Given the description of an element on the screen output the (x, y) to click on. 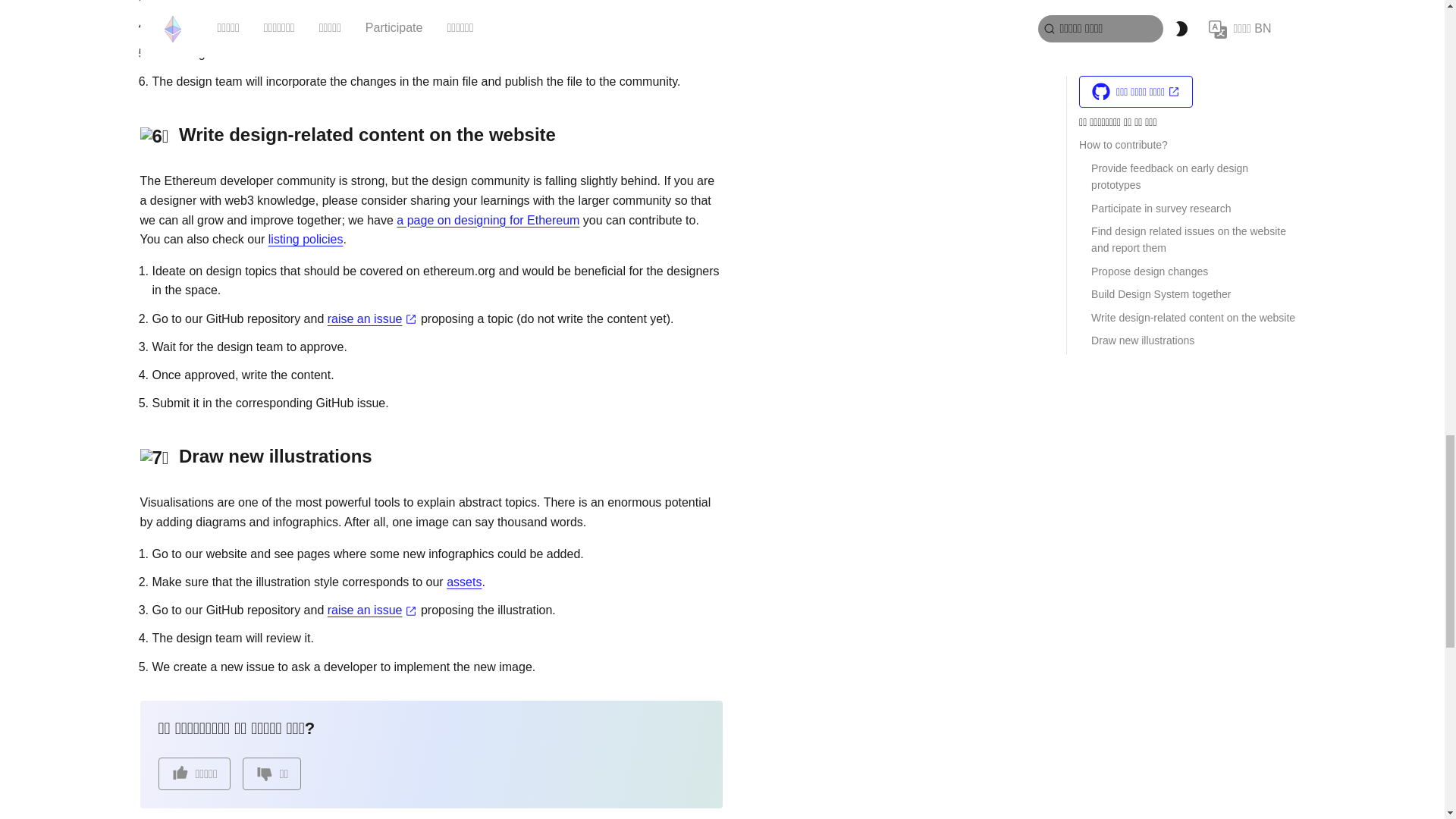
a page on designing for Ethereum (487, 219)
listing policies (305, 238)
assets (463, 581)
